Given the description of an element on the screen output the (x, y) to click on. 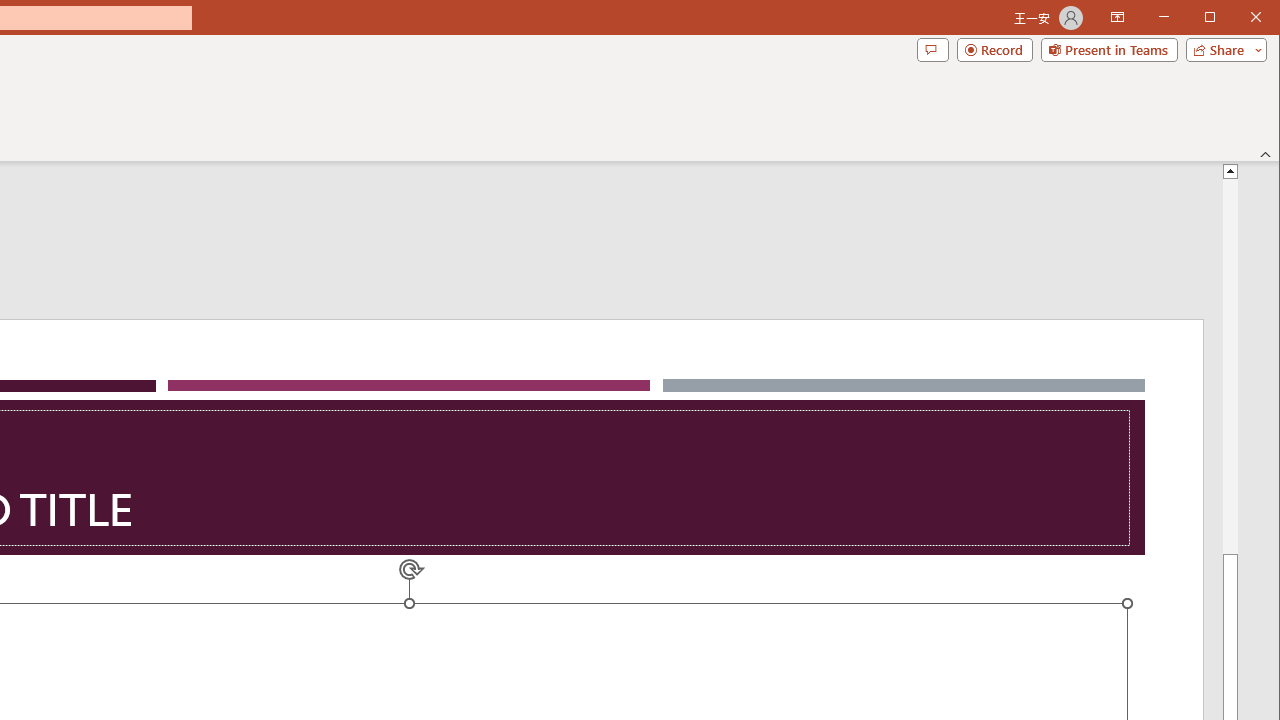
Present in Teams (1108, 49)
Ribbon Display Options (1117, 17)
Collapse the Ribbon (1266, 154)
Close (1261, 18)
Share (1222, 49)
Maximize (1238, 18)
Comments (932, 49)
Record (994, 49)
Minimize (1216, 18)
